Given the description of an element on the screen output the (x, y) to click on. 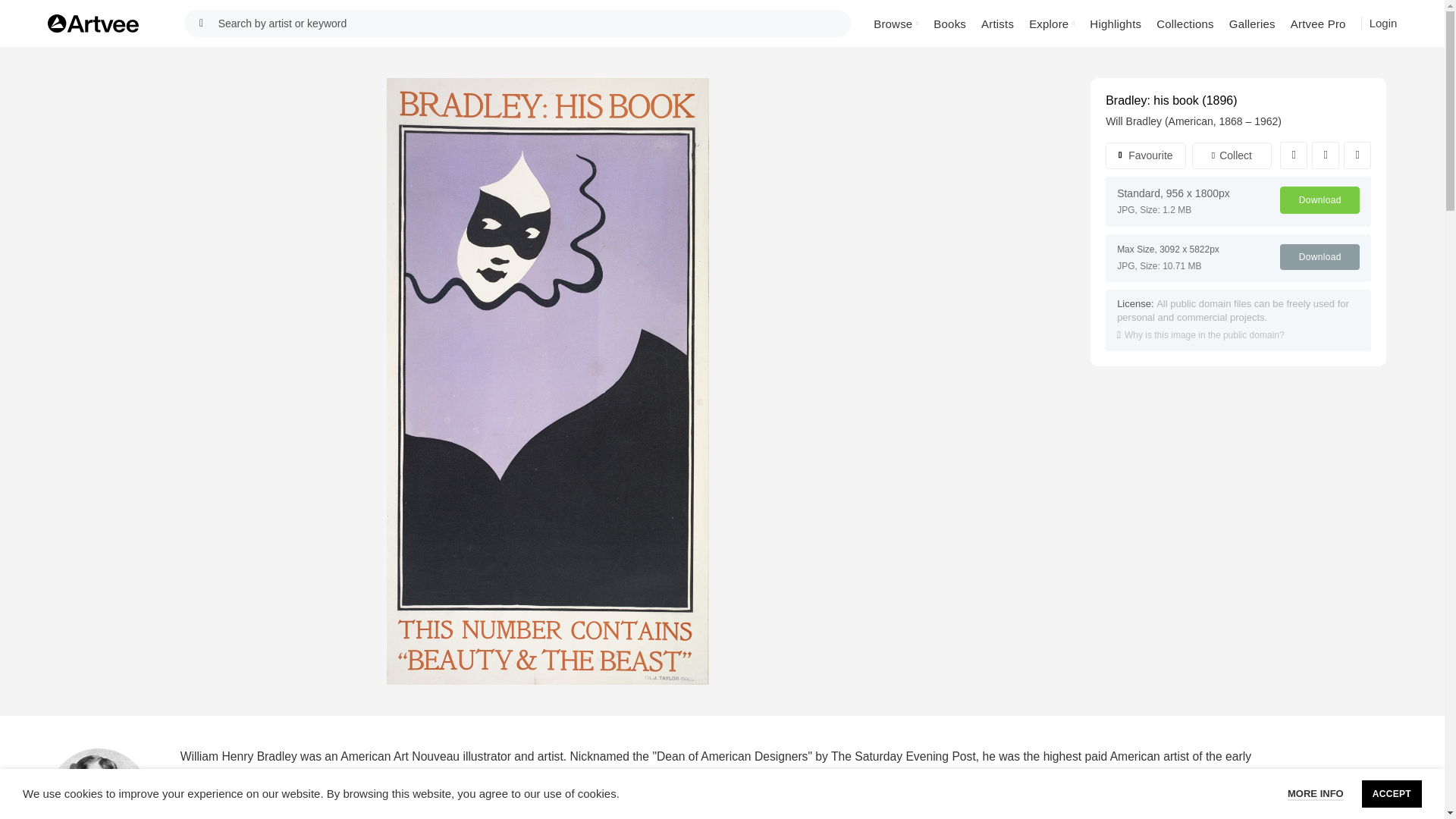
Highlights (1114, 23)
Login (1383, 23)
Will Bradley (98, 783)
Pinterest (1357, 154)
Collections (1184, 23)
Explore (1051, 23)
Will Bradley (1133, 121)
Artvee Pro (1318, 23)
Download (1319, 199)
Download (1319, 257)
Browse (896, 23)
Login (1383, 22)
Twitter (1325, 154)
Books (950, 23)
Facebook (1293, 154)
